Given the description of an element on the screen output the (x, y) to click on. 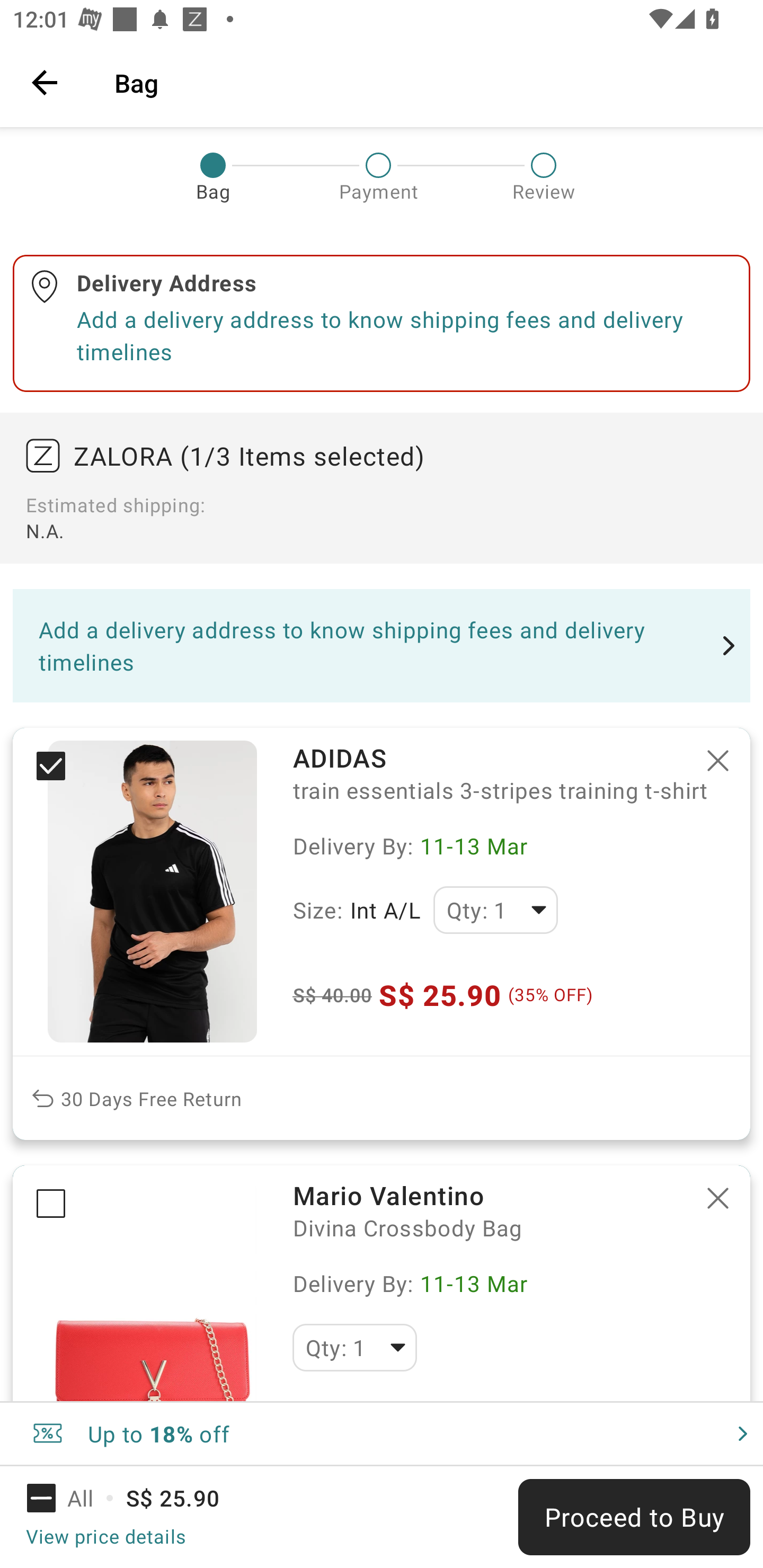
Navigate up (44, 82)
Bag (426, 82)
Qty: 1 (495, 909)
Qty: 1 (354, 1347)
Up to 18% off (381, 1433)
All (72, 1497)
Proceed to Buy (634, 1516)
View price details (105, 1535)
